Given the description of an element on the screen output the (x, y) to click on. 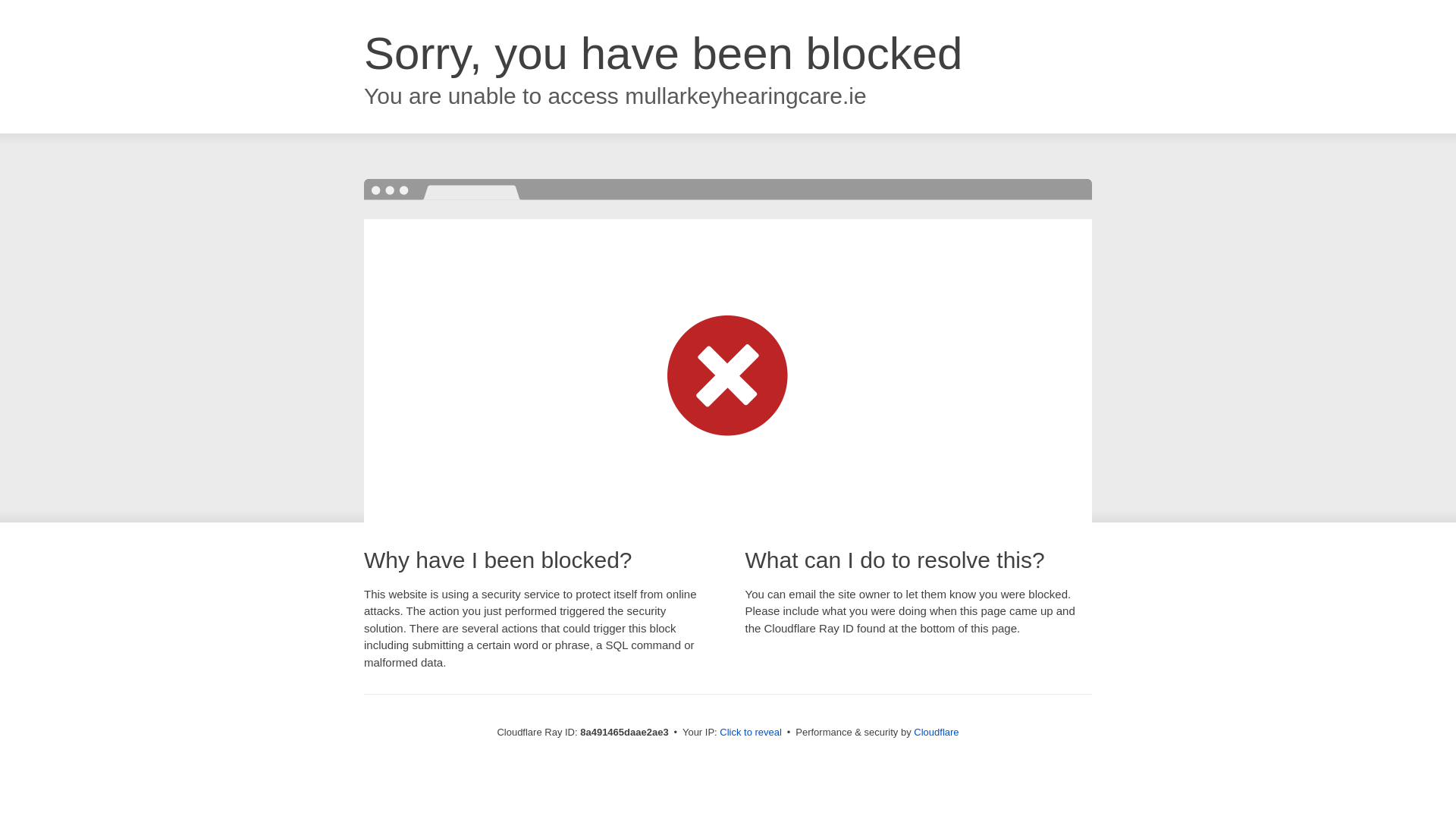
Click to reveal (750, 732)
Cloudflare (936, 731)
